Given the description of an element on the screen output the (x, y) to click on. 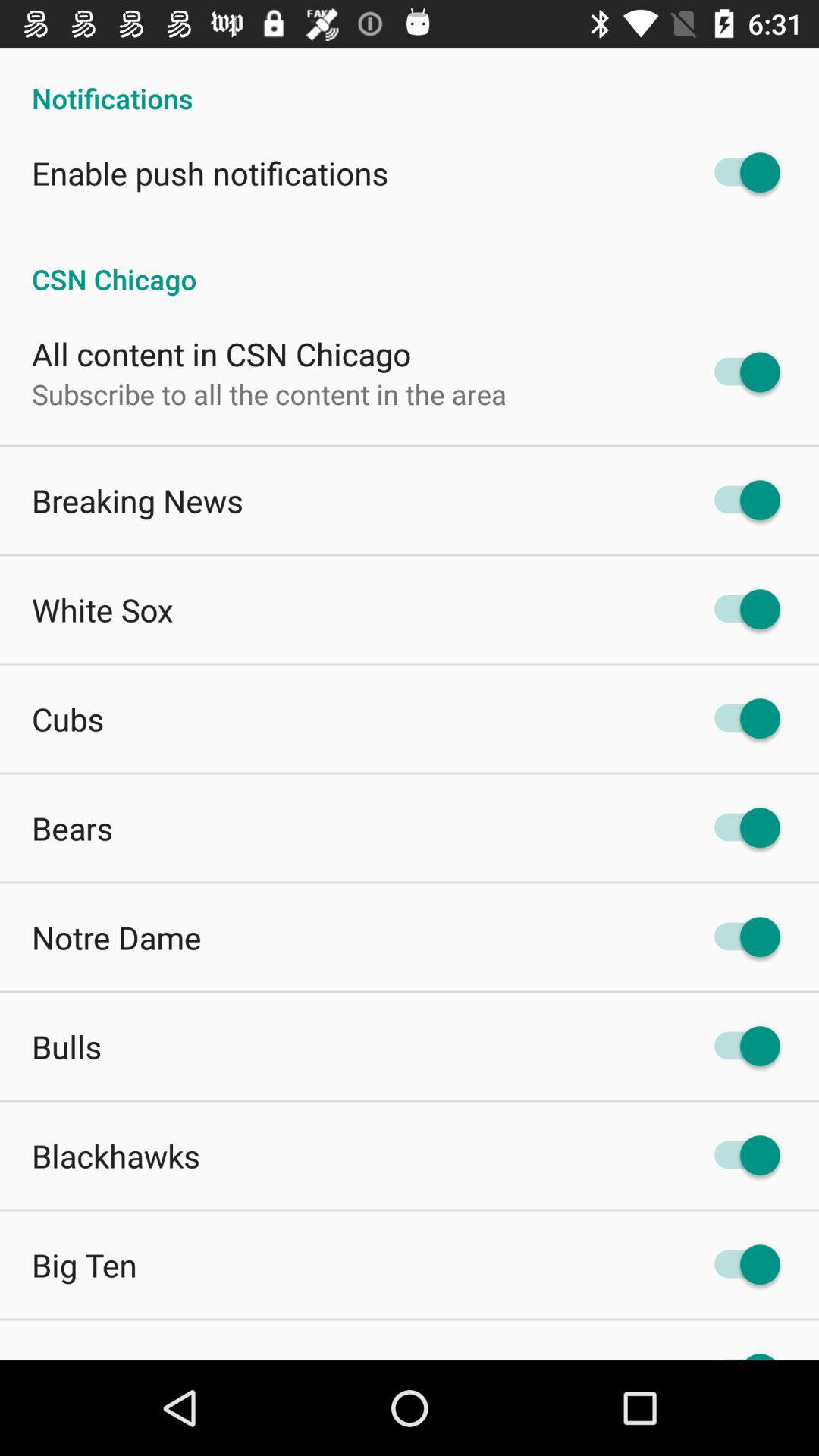
tap app below subscribe to all icon (137, 500)
